Given the description of an element on the screen output the (x, y) to click on. 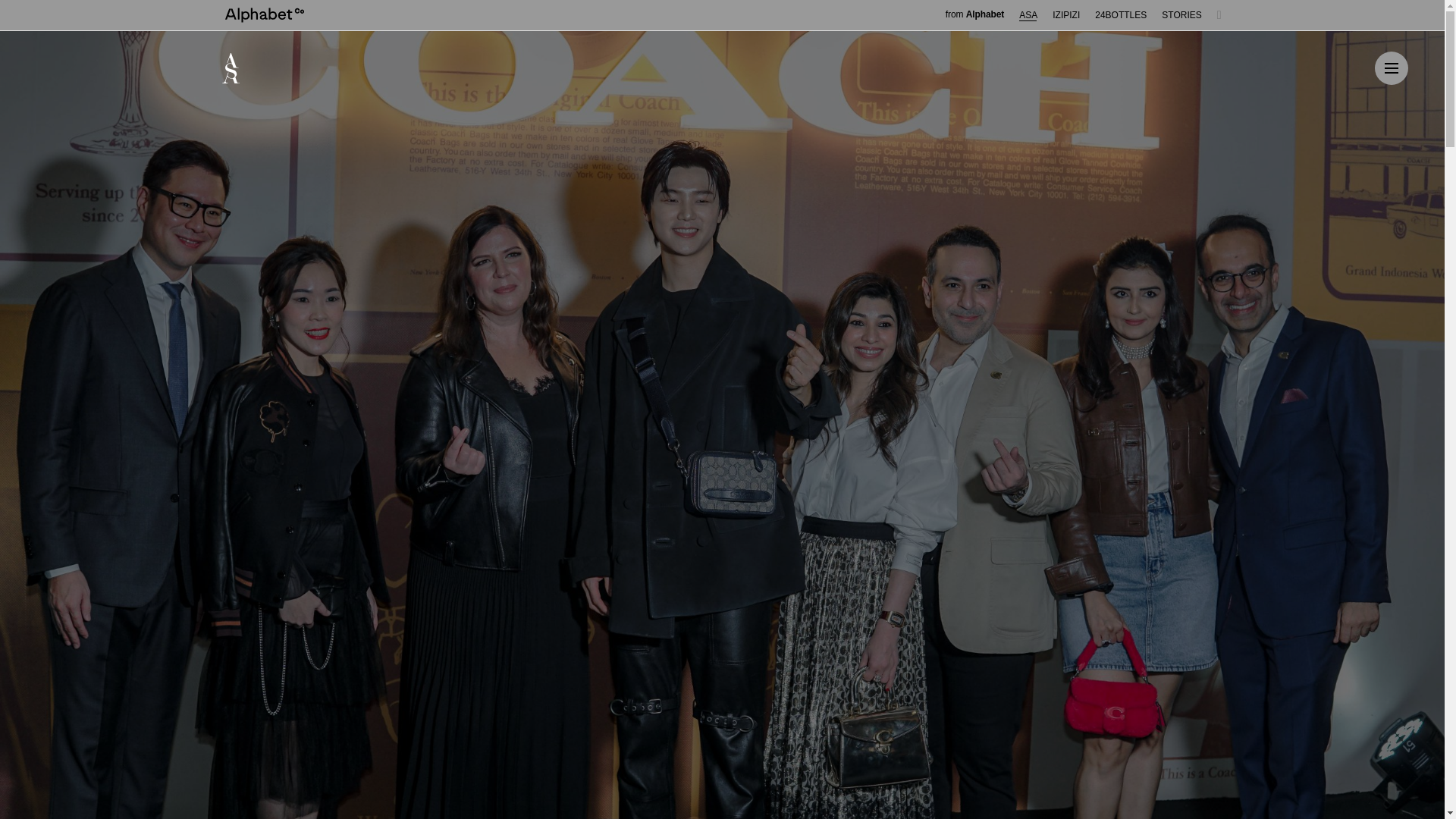
from Alphabet (974, 13)
STORIES (1181, 15)
ASA (1027, 15)
IZIPIZI (1066, 15)
24BOTTLES (1120, 15)
